Given the description of an element on the screen output the (x, y) to click on. 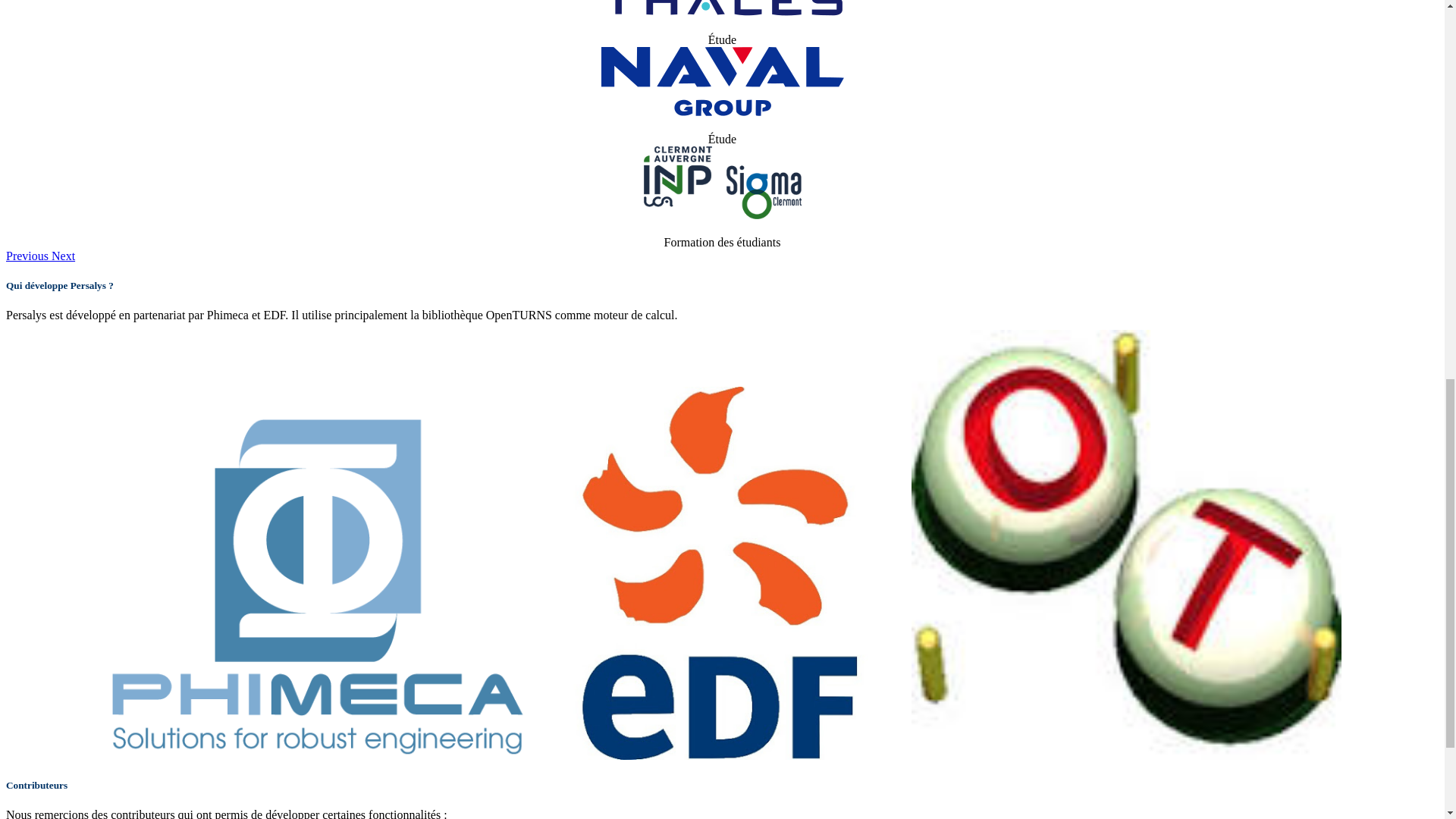
Previous (27, 255)
Next (62, 255)
